Given the description of an element on the screen output the (x, y) to click on. 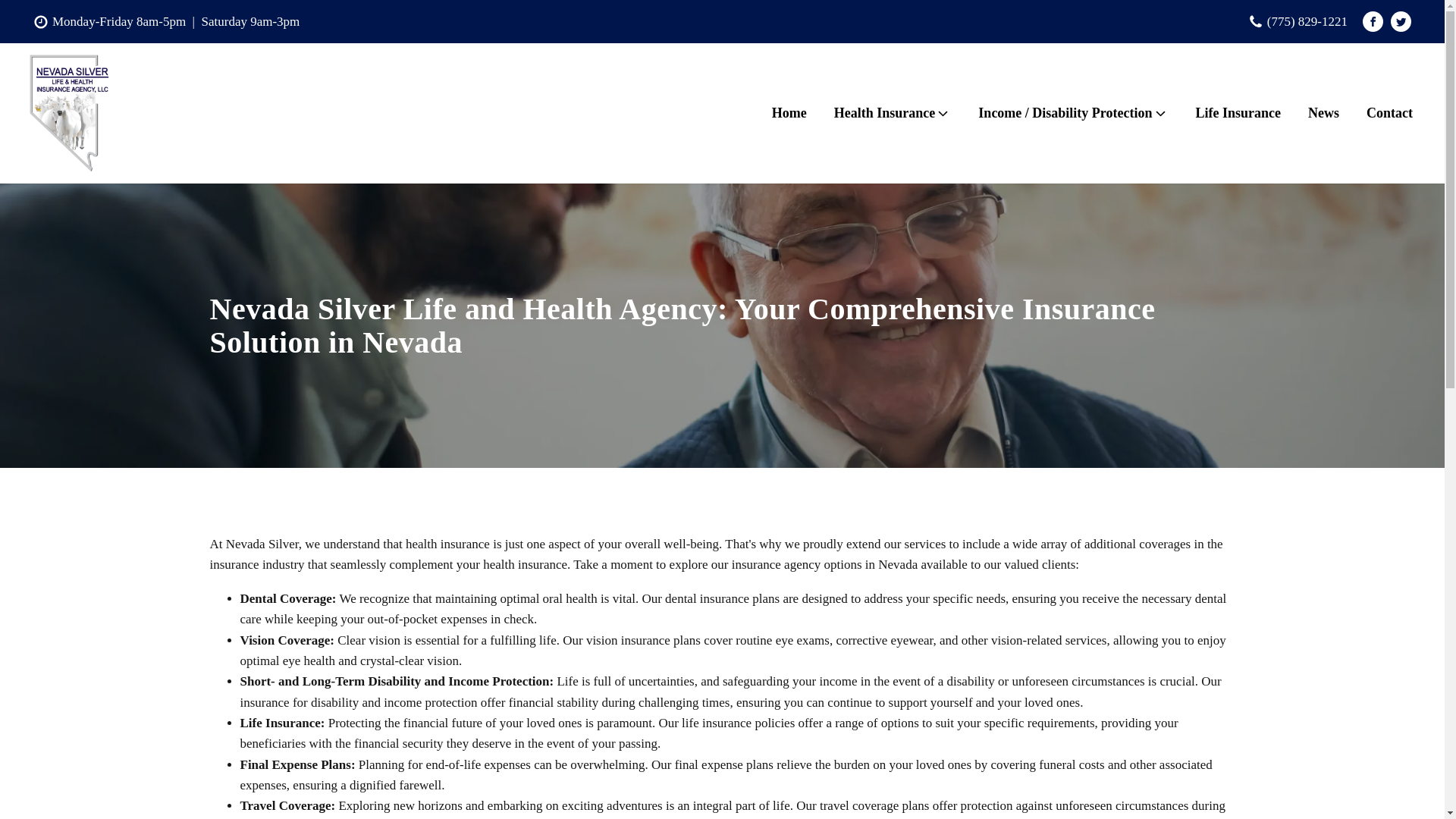
News (1323, 113)
Contact (1389, 113)
Life Insurance (1238, 113)
Health Insurance (893, 113)
Home (788, 113)
